Given the description of an element on the screen output the (x, y) to click on. 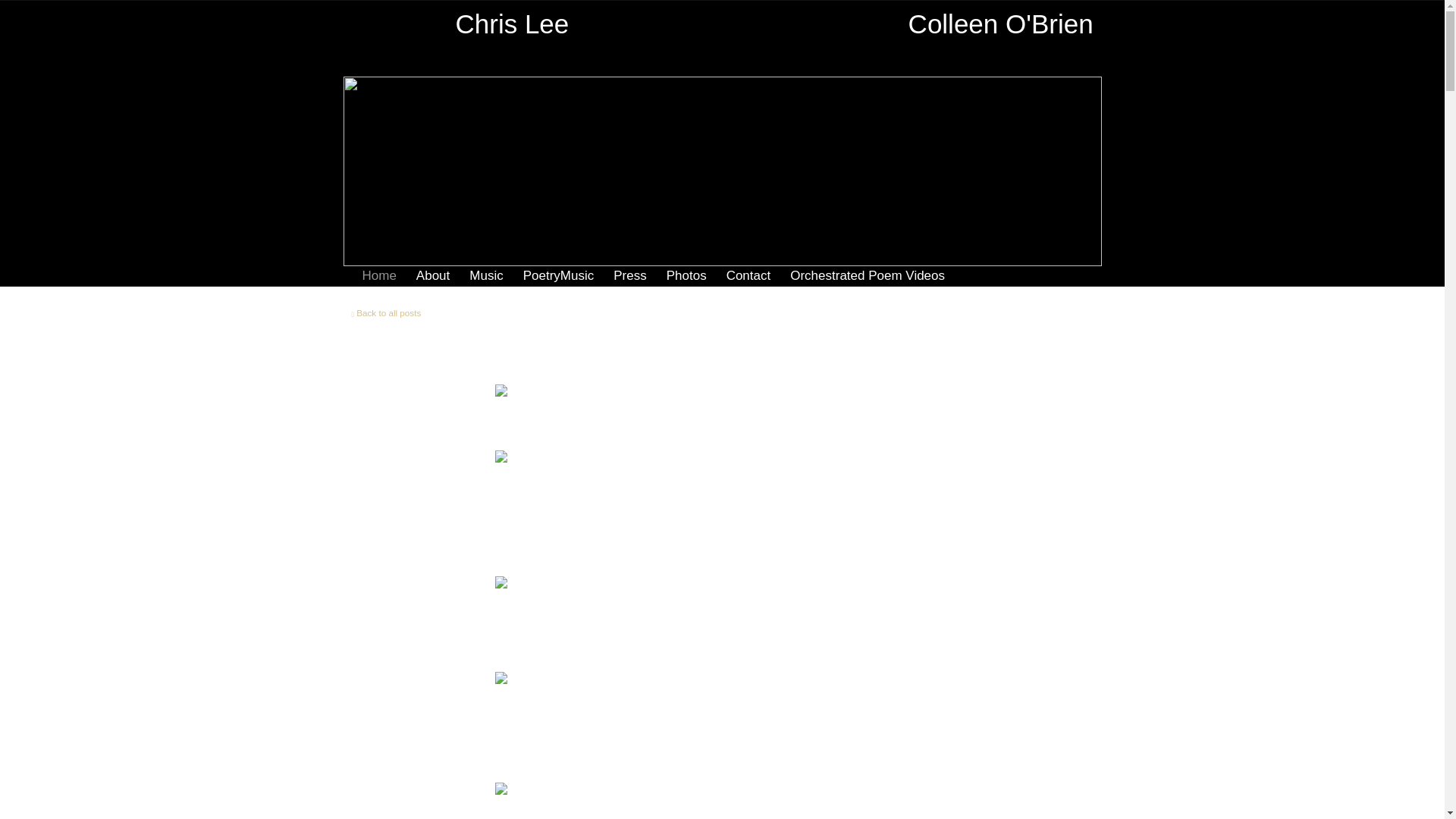
About (432, 275)
Orchestrated Poem Videos (867, 275)
Press (629, 275)
Home (379, 275)
PoetryMusic (558, 275)
Music (485, 275)
Contact (748, 275)
Photos (686, 275)
Back to all posts (387, 312)
